Given the description of an element on the screen output the (x, y) to click on. 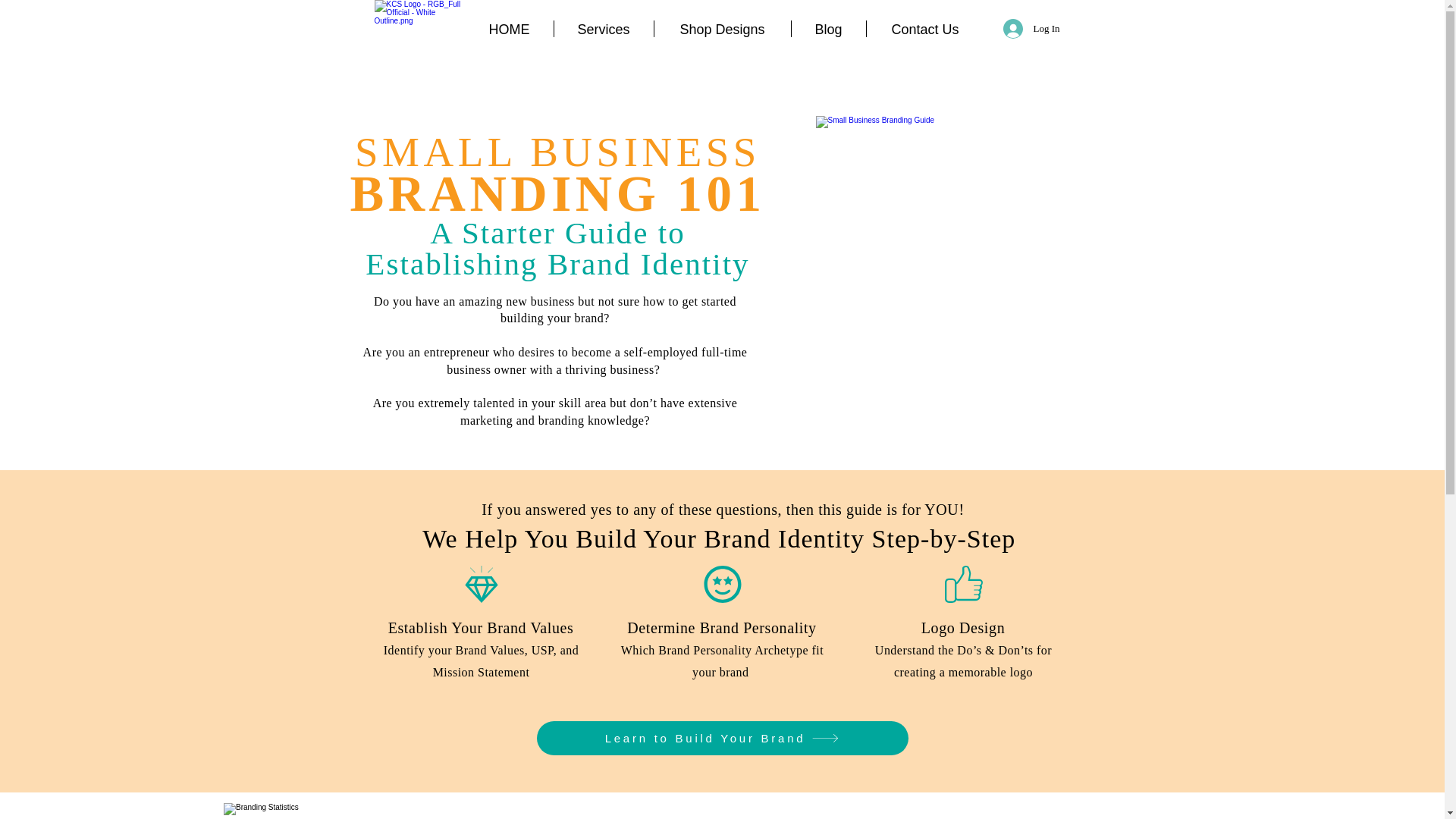
Learn to Build Your Brand (722, 738)
HOME (509, 28)
Blog (829, 28)
Contact Us (925, 28)
Log In (1023, 28)
Services (602, 28)
Shop Designs (721, 28)
